Given the description of an element on the screen output the (x, y) to click on. 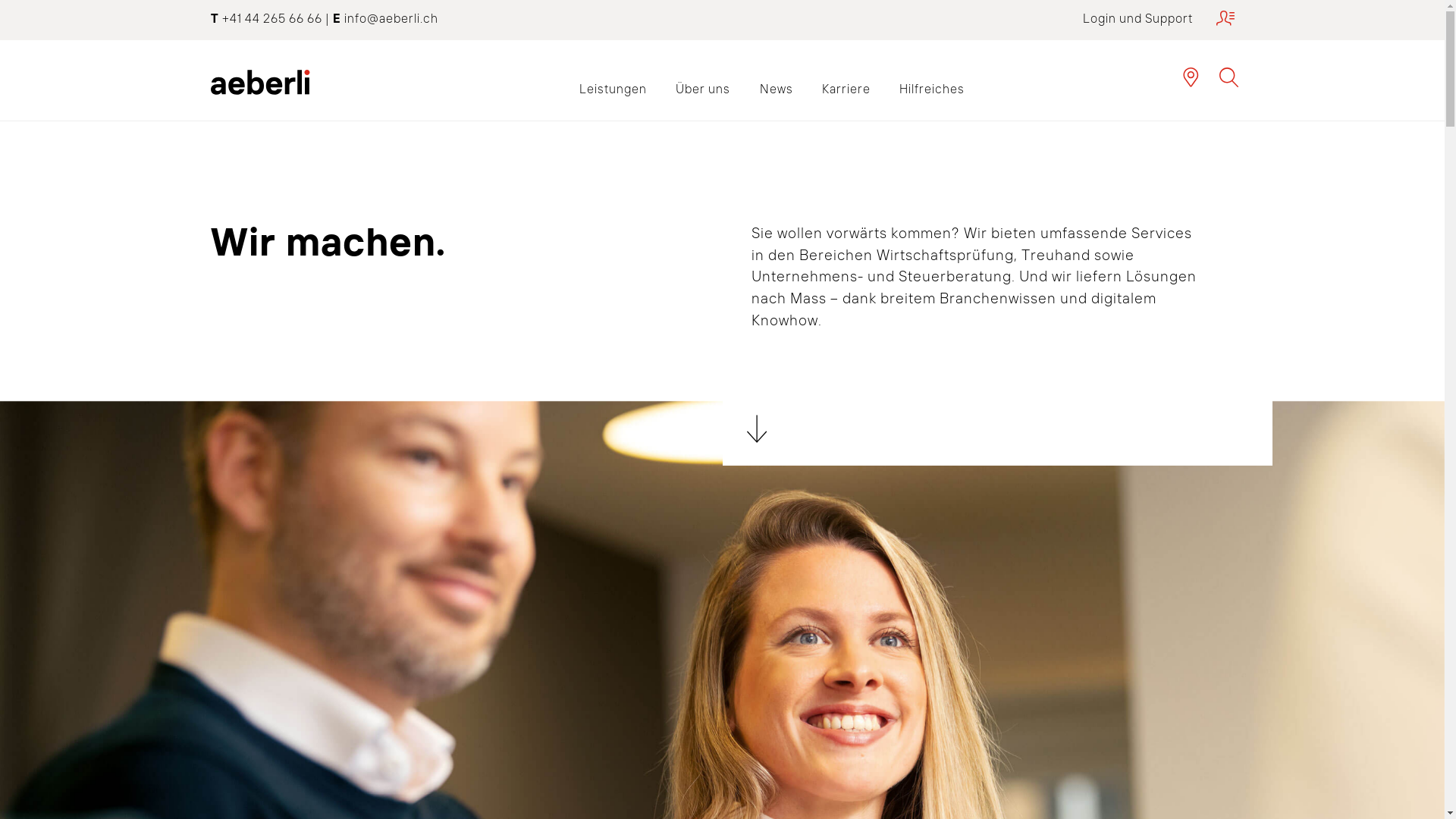
Karriere Element type: text (845, 88)
Hilfreiches Element type: text (931, 88)
Login und Support Element type: text (1158, 17)
News Element type: text (775, 88)
Kontakt Element type: hover (1191, 77)
info@aeberli.ch Element type: text (391, 17)
Leistungen Element type: text (612, 88)
Suche Element type: hover (1229, 77)
